Given the description of an element on the screen output the (x, y) to click on. 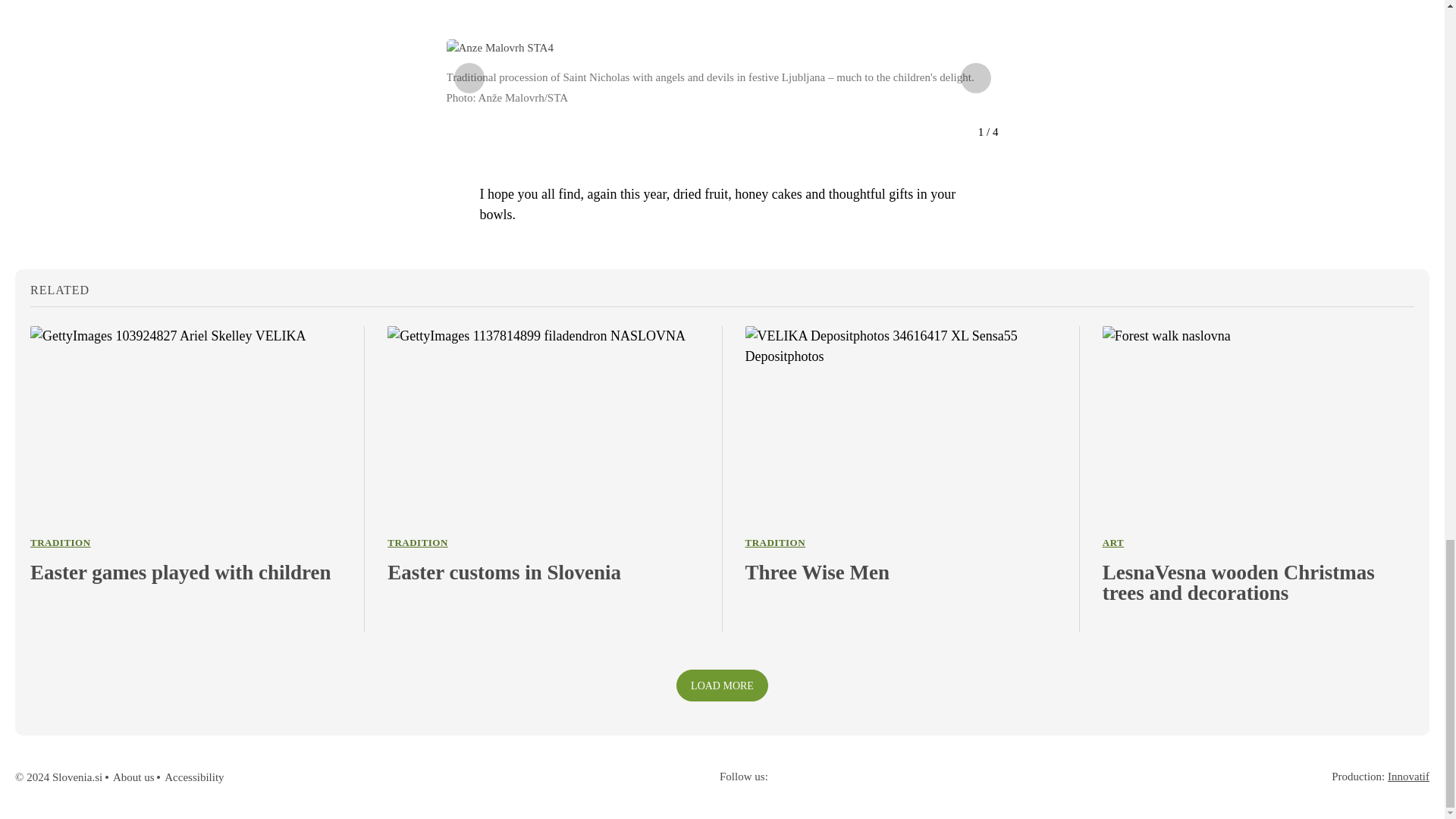
Next (974, 78)
Easter games played with children (186, 572)
TRADITION (60, 542)
Previous (467, 78)
